Given the description of an element on the screen output the (x, y) to click on. 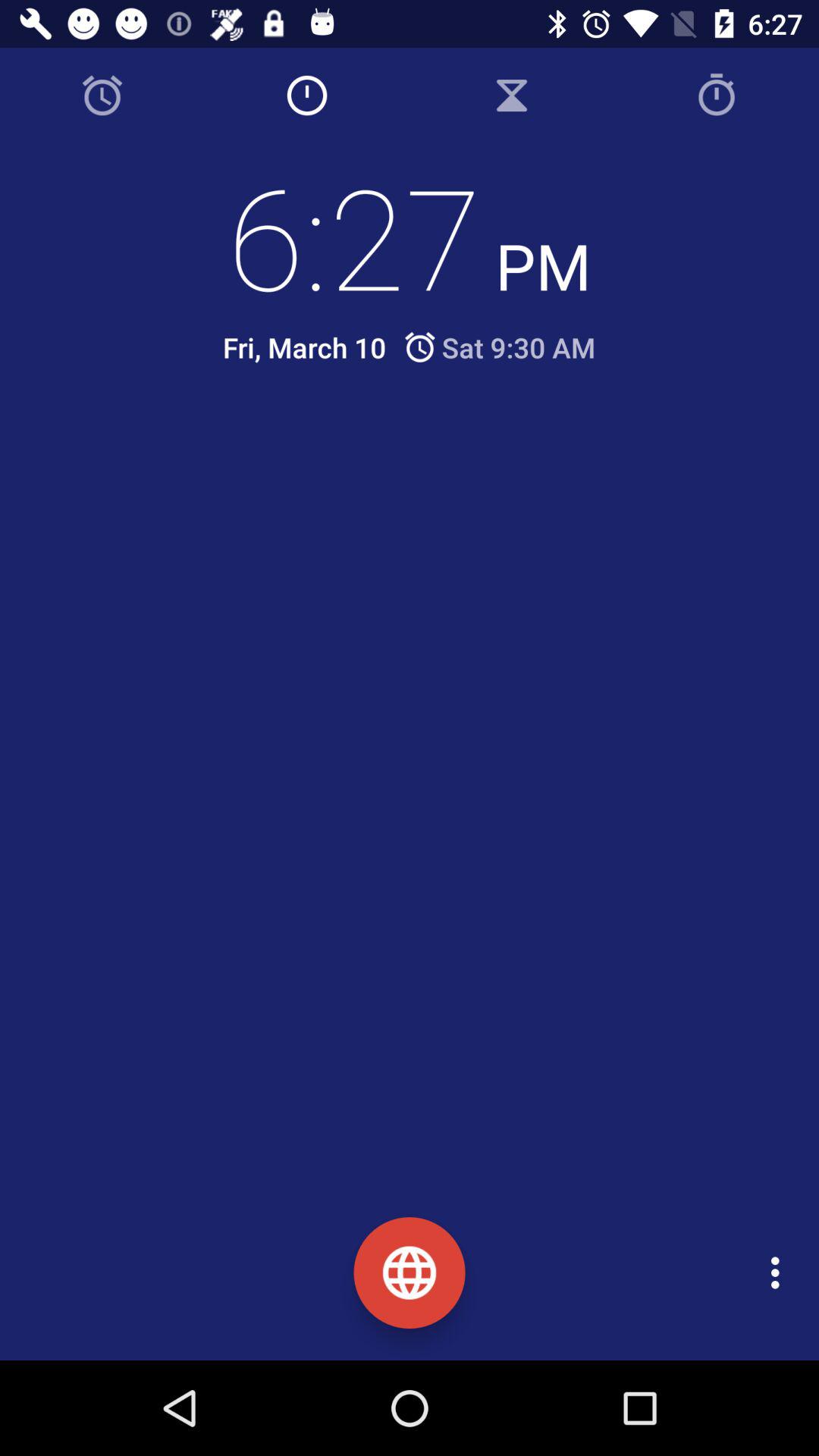
jump until sat 9 30 (498, 347)
